Given the description of an element on the screen output the (x, y) to click on. 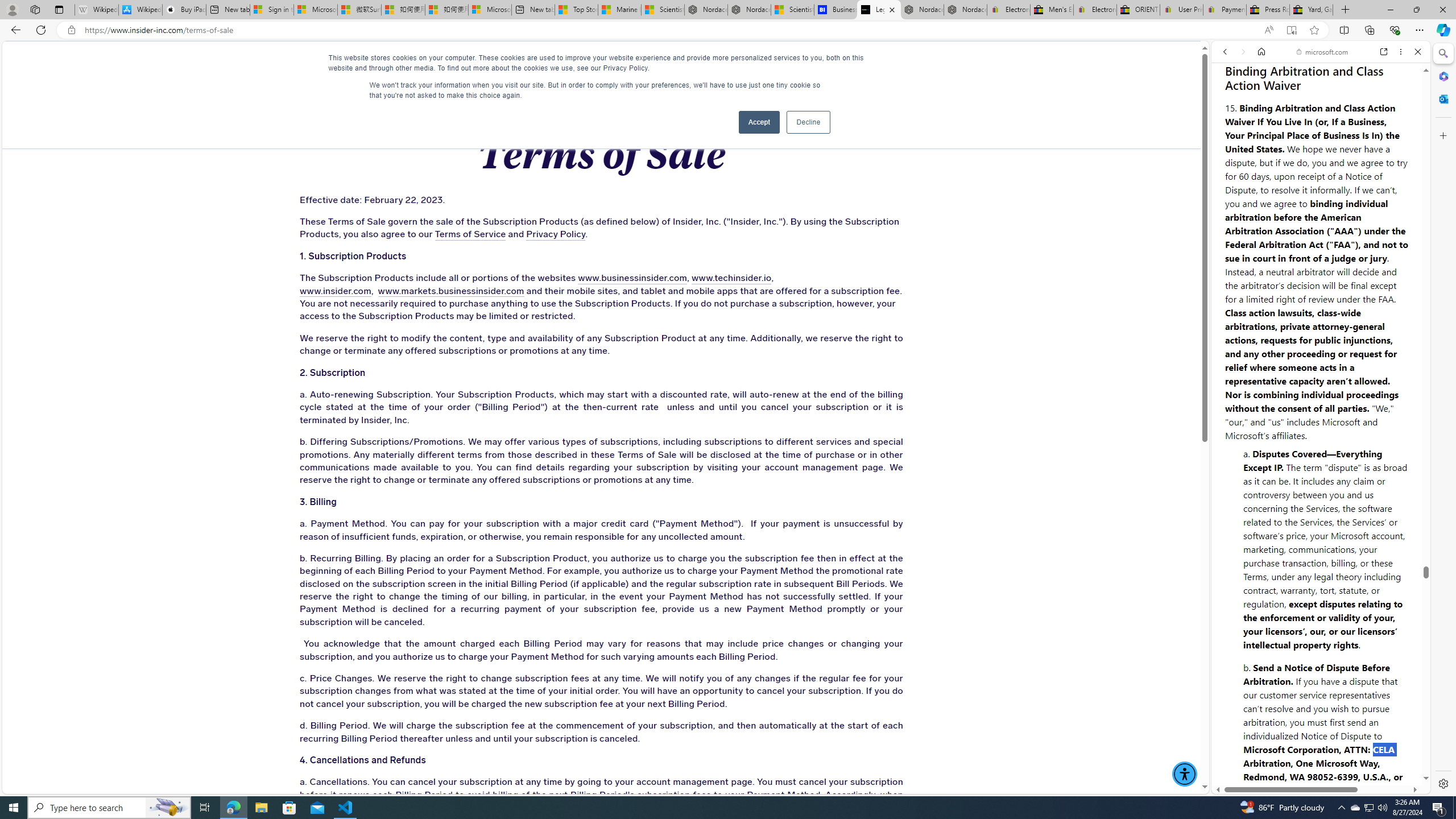
Payments Terms of Use | eBay.com (1224, 9)
Search the web (1326, 78)
WHO WE ARE (347, 62)
Marine life - MSN (619, 9)
Press Room - eBay Inc. (1267, 9)
www.insider.com (334, 291)
